Given the description of an element on the screen output the (x, y) to click on. 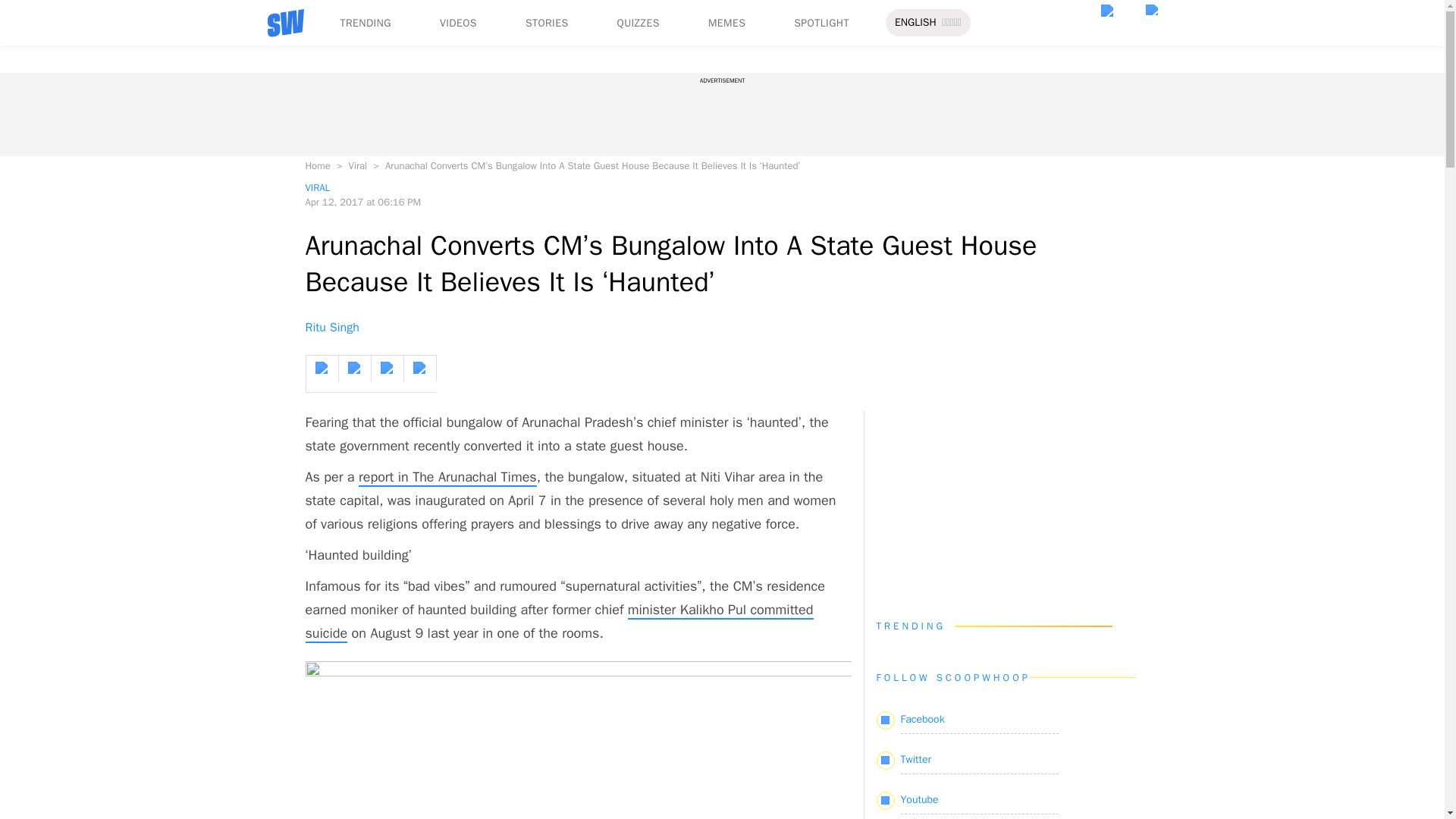
TRENDING (364, 22)
STORIES (547, 22)
ENGLISH (915, 22)
VIDEOS (458, 22)
SPOTLIGHT (820, 22)
QUIZZES (638, 22)
MEMES (726, 22)
